Given the description of an element on the screen output the (x, y) to click on. 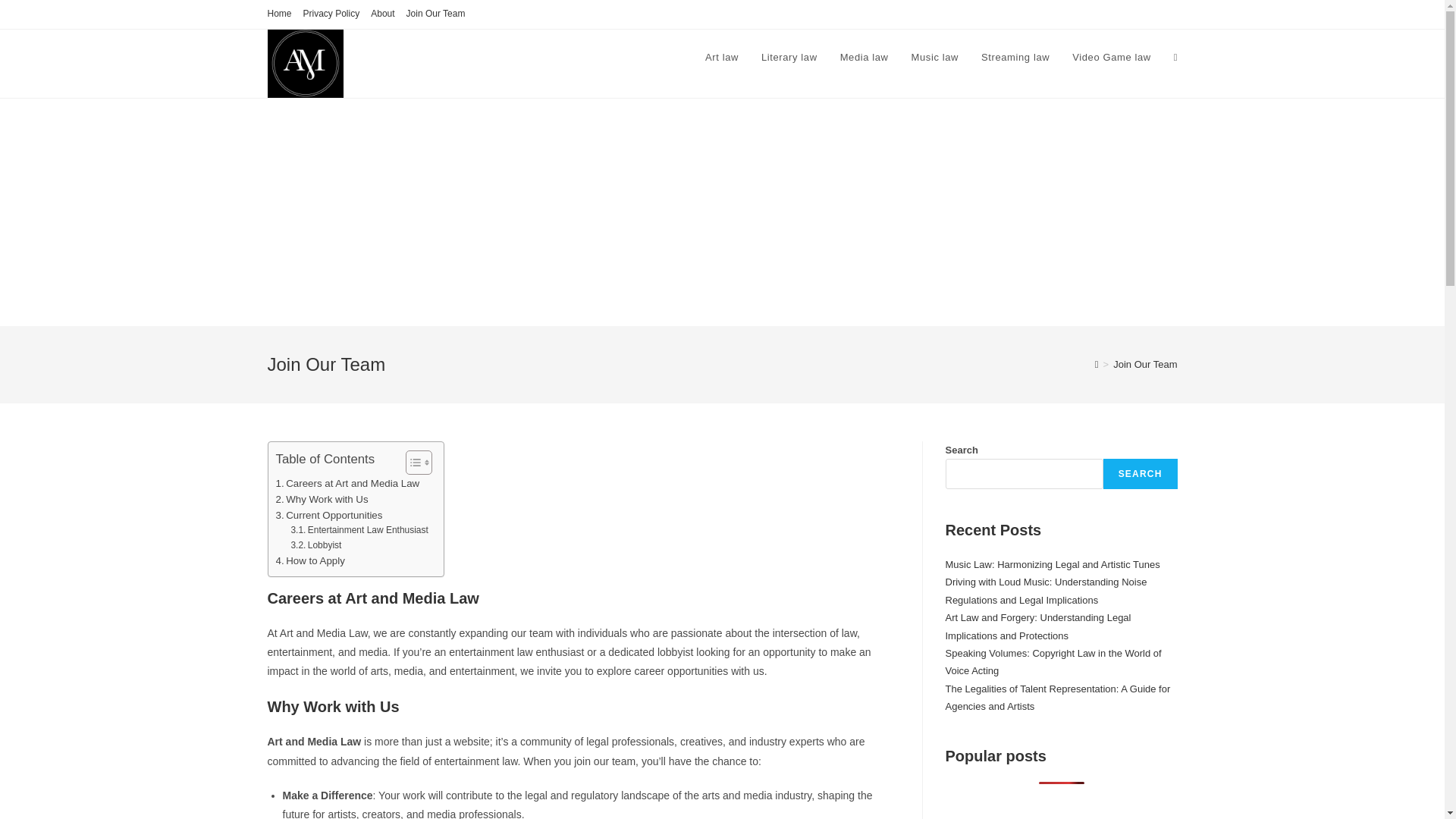
Entertainment Law Enthusiast (358, 530)
Video Game law (1111, 57)
Careers at Art and Media Law (348, 483)
Why Work with Us (322, 498)
Literary law (788, 57)
Current Opportunities (329, 514)
Current Opportunities (329, 514)
Careers at Art and Media Law (348, 483)
